Given the description of an element on the screen output the (x, y) to click on. 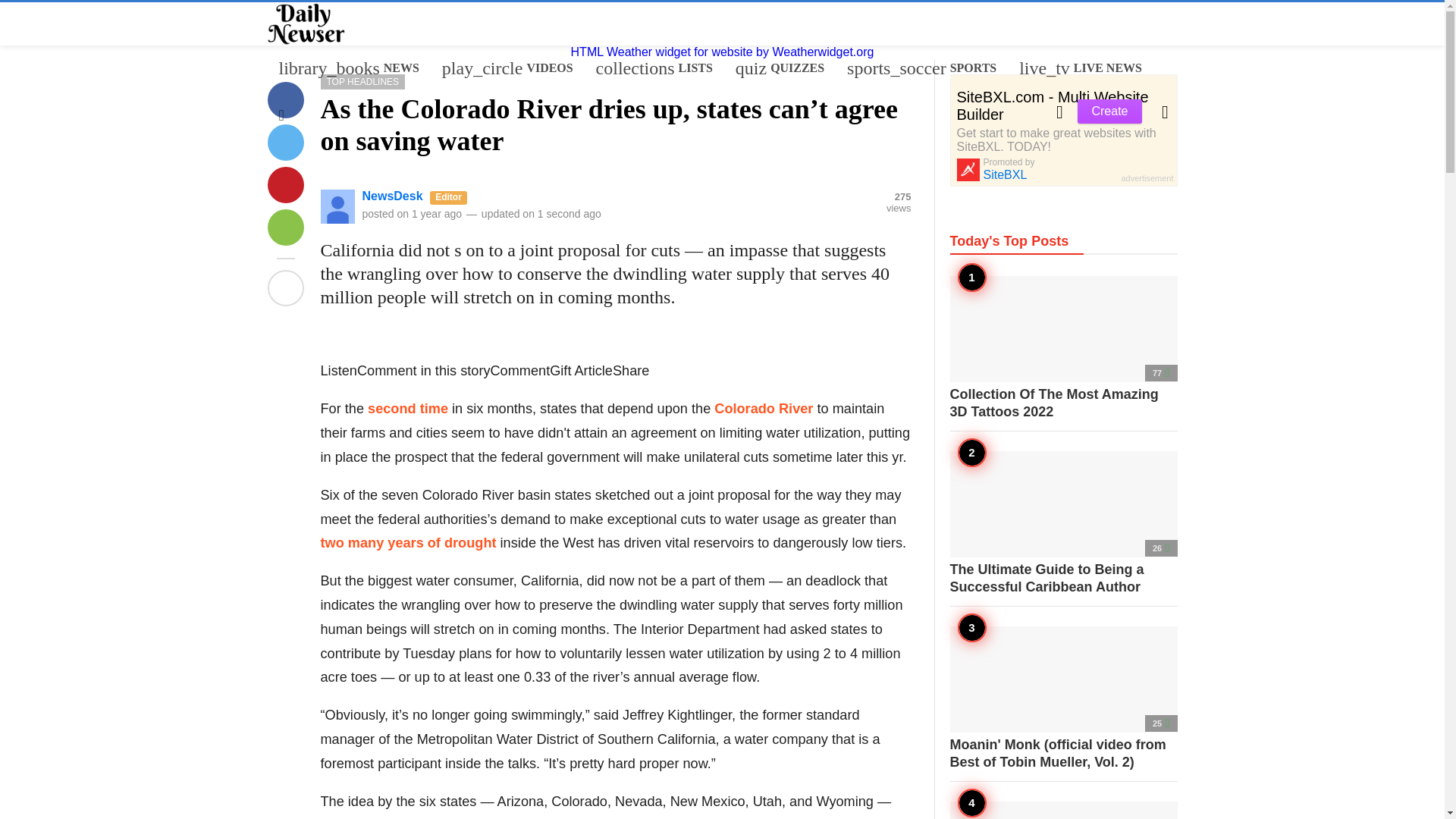
sign up (300, 229)
NICE (779, 67)
Create (308, 230)
AWESOME! (1109, 111)
Log in (303, 230)
OMG! (654, 67)
